Given the description of an element on the screen output the (x, y) to click on. 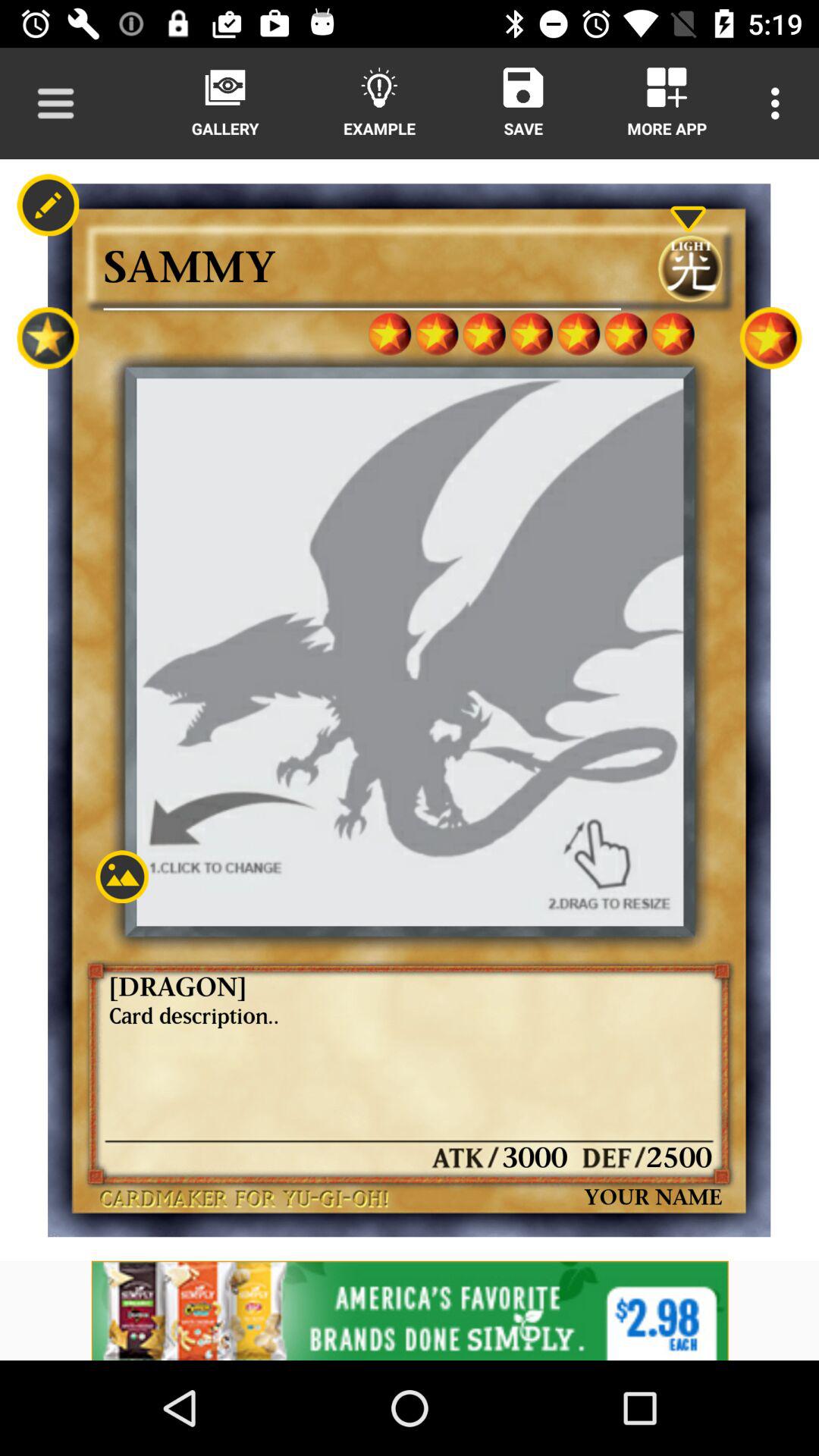
edit (48, 205)
